Given the description of an element on the screen output the (x, y) to click on. 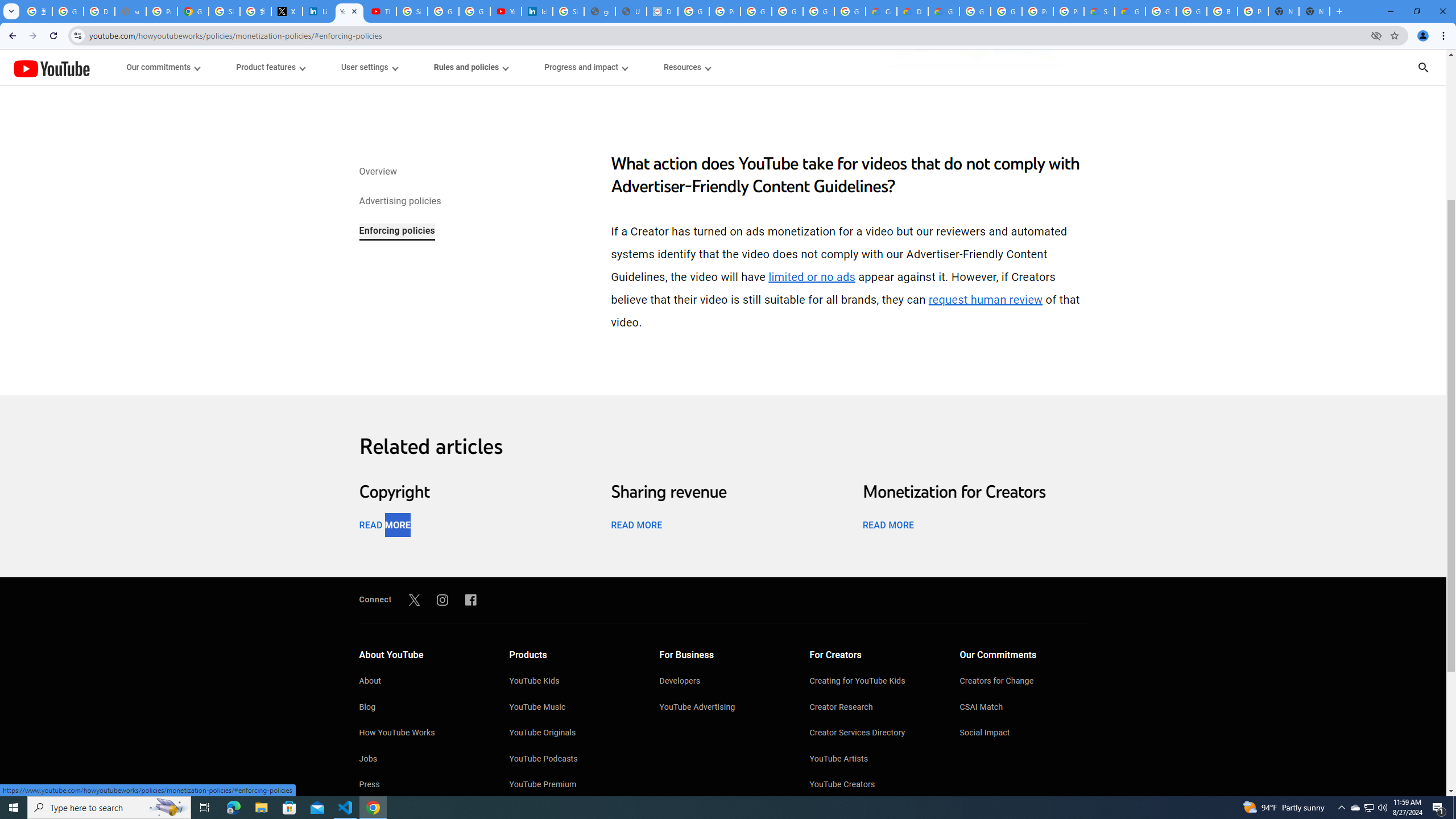
Google Cloud Service Health (1129, 11)
Our commitments menupopup (163, 67)
Progress and impact menupopup (585, 67)
YouTube Content Monetization Policies - How YouTube Works (349, 11)
google_privacy_policy_en.pdf (599, 11)
Creator Research (873, 708)
READ MORE (887, 524)
Google Workspace - Specific Terms (818, 11)
YouTube Creators (873, 785)
Sign in - Google Accounts (411, 11)
Gemini for Business and Developers | Google Cloud (943, 11)
